Given the description of an element on the screen output the (x, y) to click on. 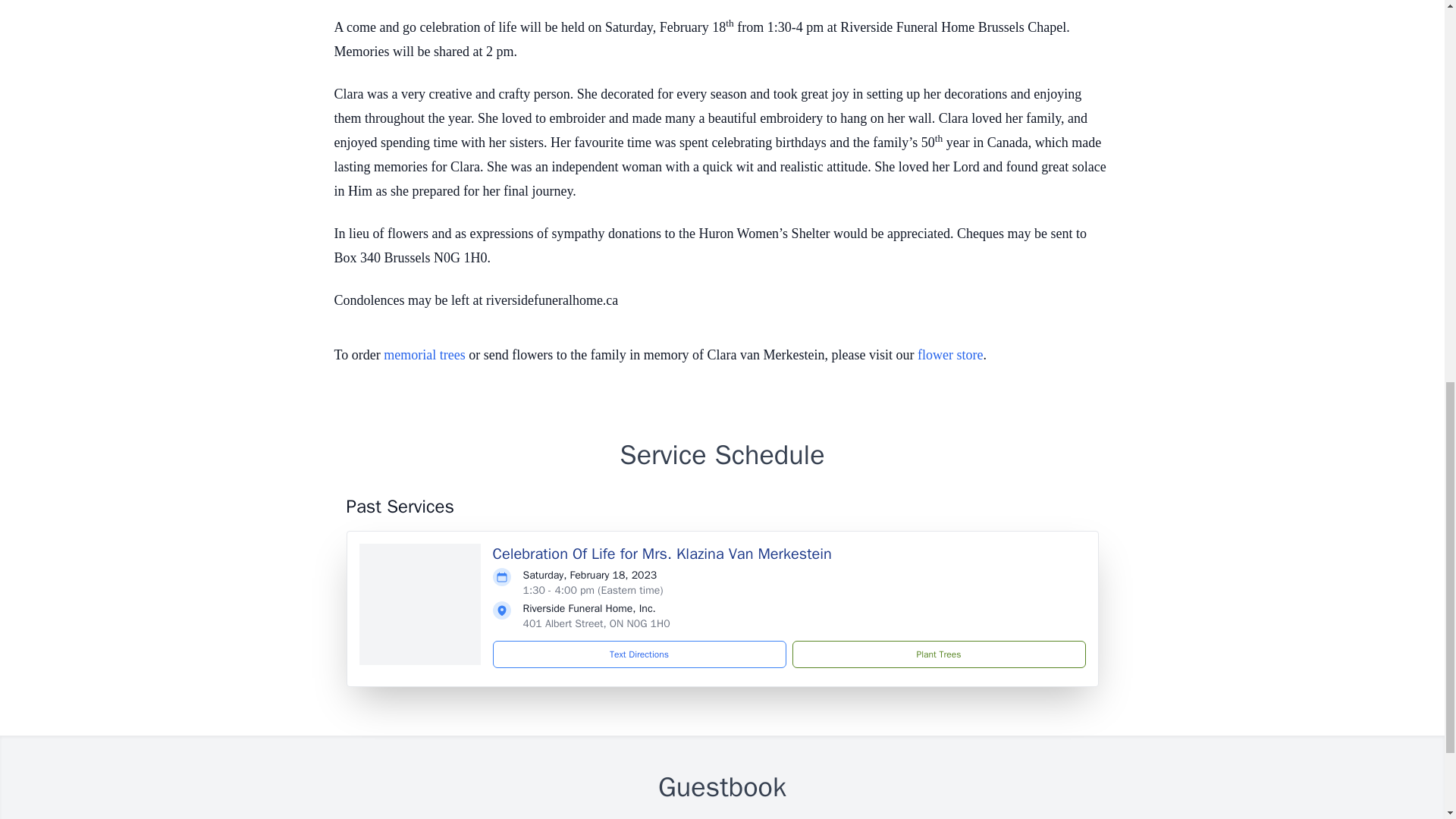
flower store (949, 354)
Plant Trees (938, 654)
memorial trees (424, 354)
Text Directions (639, 654)
401 Albert Street, ON N0G 1H0 (595, 623)
